Given the description of an element on the screen output the (x, y) to click on. 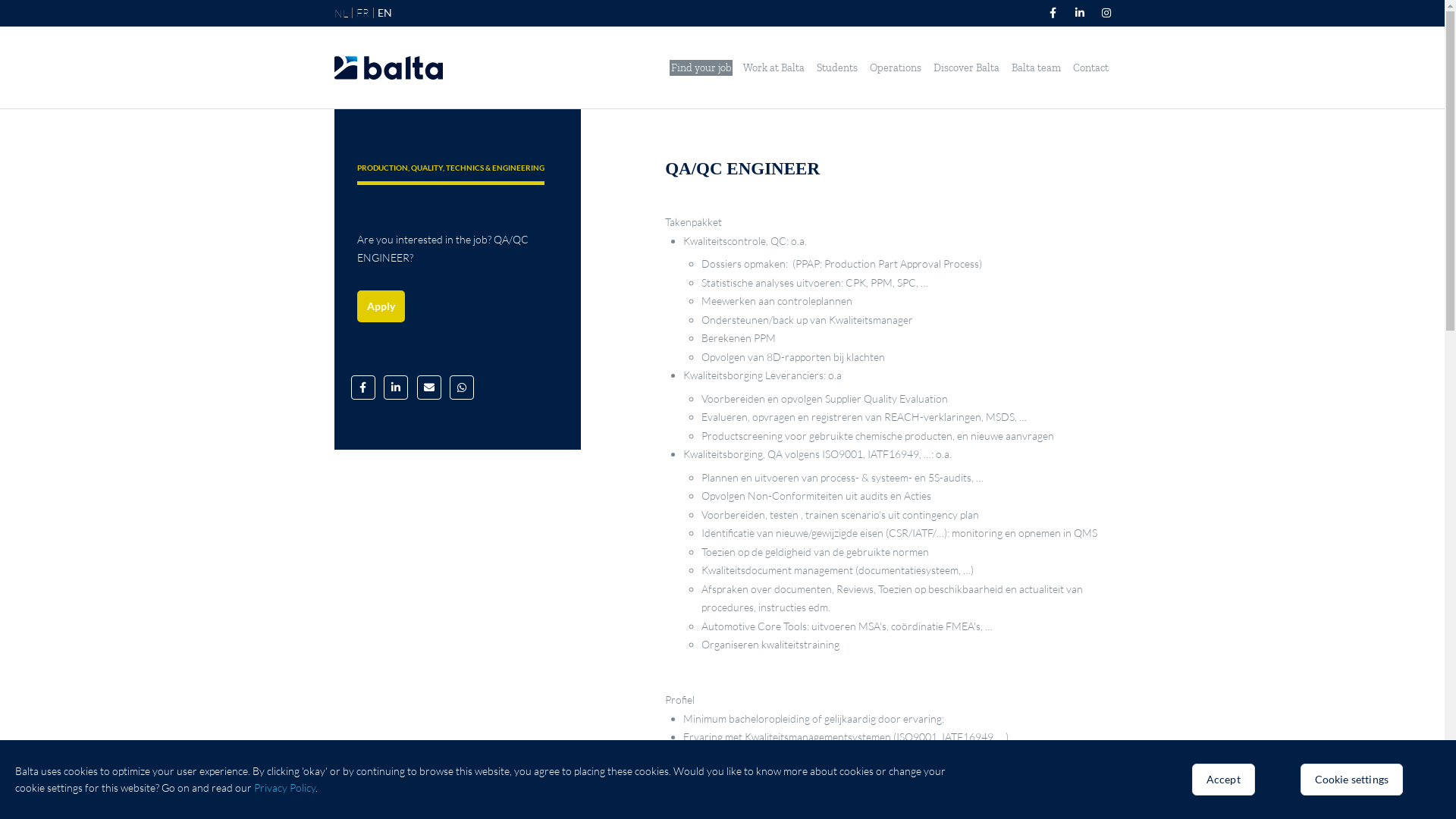
Work at Balta Element type: text (773, 67)
Find your job Element type: text (700, 67)
Balta team Element type: text (1036, 67)
Cookie settings Element type: text (1351, 779)
FR Element type: text (362, 12)
Discover Balta Element type: text (966, 67)
EN Element type: text (384, 12)
NL Element type: text (340, 13)
Privacy Policy Element type: text (284, 787)
Contact Element type: text (1090, 67)
Operations Element type: text (895, 67)
Accept Element type: text (1223, 779)
Students Element type: text (837, 67)
Apply Element type: text (380, 306)
